Given the description of an element on the screen output the (x, y) to click on. 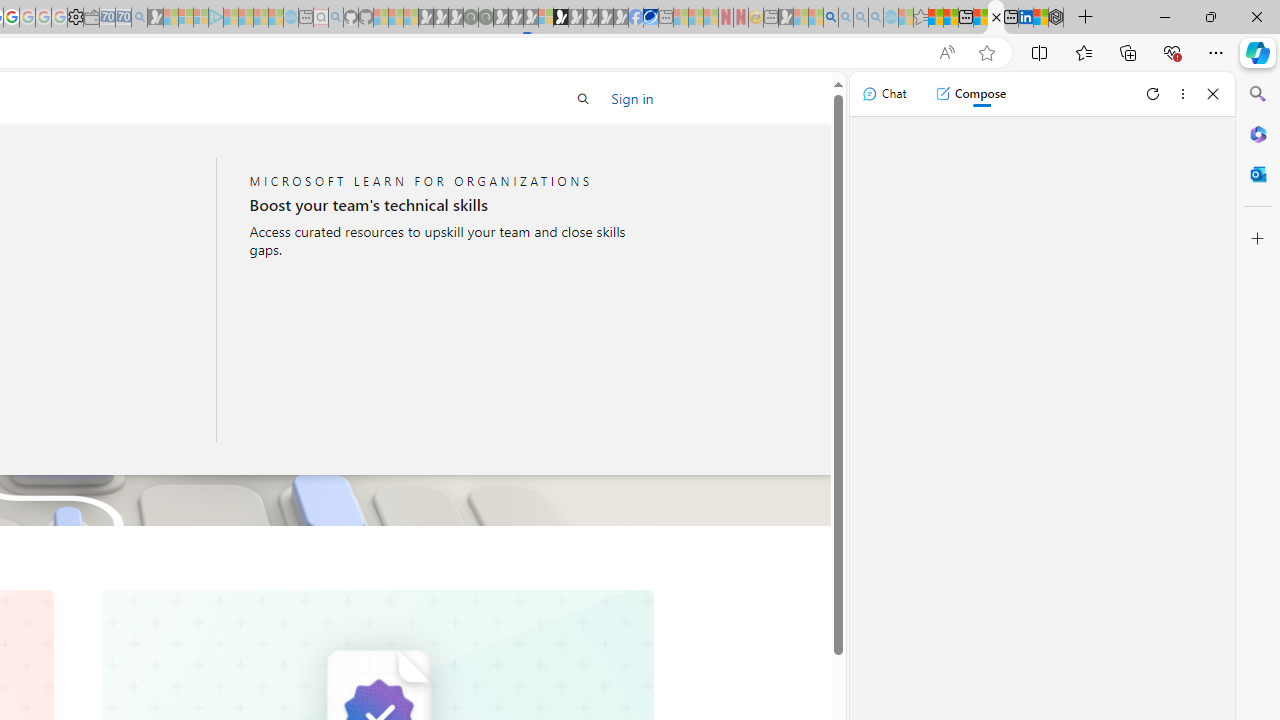
Future Focus Report 2024 - Sleeping (485, 17)
Bing AI - Search (831, 17)
Open search (583, 97)
